Given the description of an element on the screen output the (x, y) to click on. 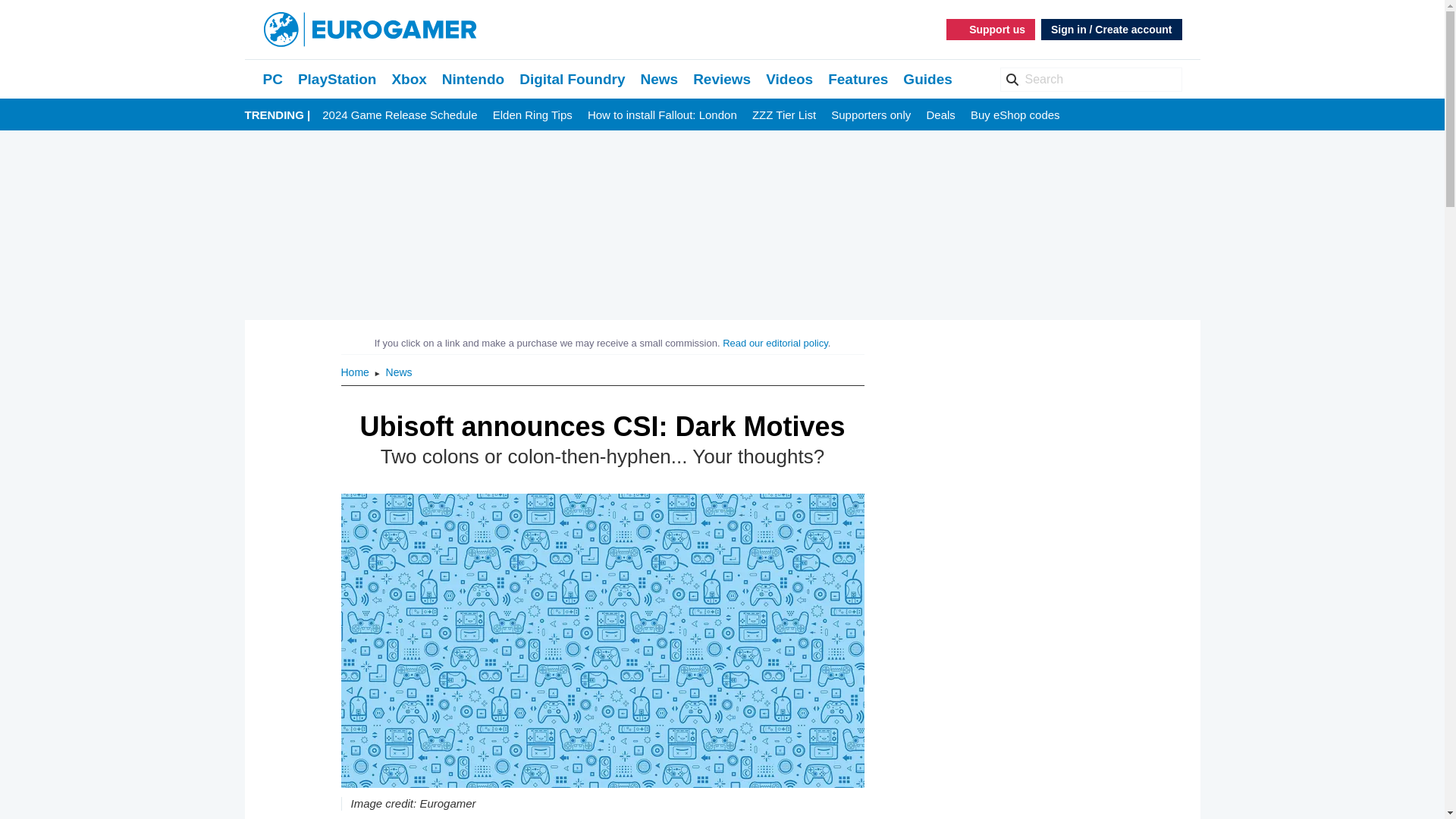
Elden Ring Tips (532, 114)
Elden Ring Tips (532, 114)
2024 Game Release Schedule (399, 114)
Digital Foundry (571, 78)
ZZZ Tier List (783, 114)
Supporters only (871, 114)
Guides (927, 78)
Deals (940, 114)
Buy eShop codes (1015, 114)
Nintendo (472, 78)
PlayStation (336, 78)
Features (858, 78)
Supporters only (871, 114)
How to install Fallout: London (662, 114)
Videos (788, 78)
